Given the description of an element on the screen output the (x, y) to click on. 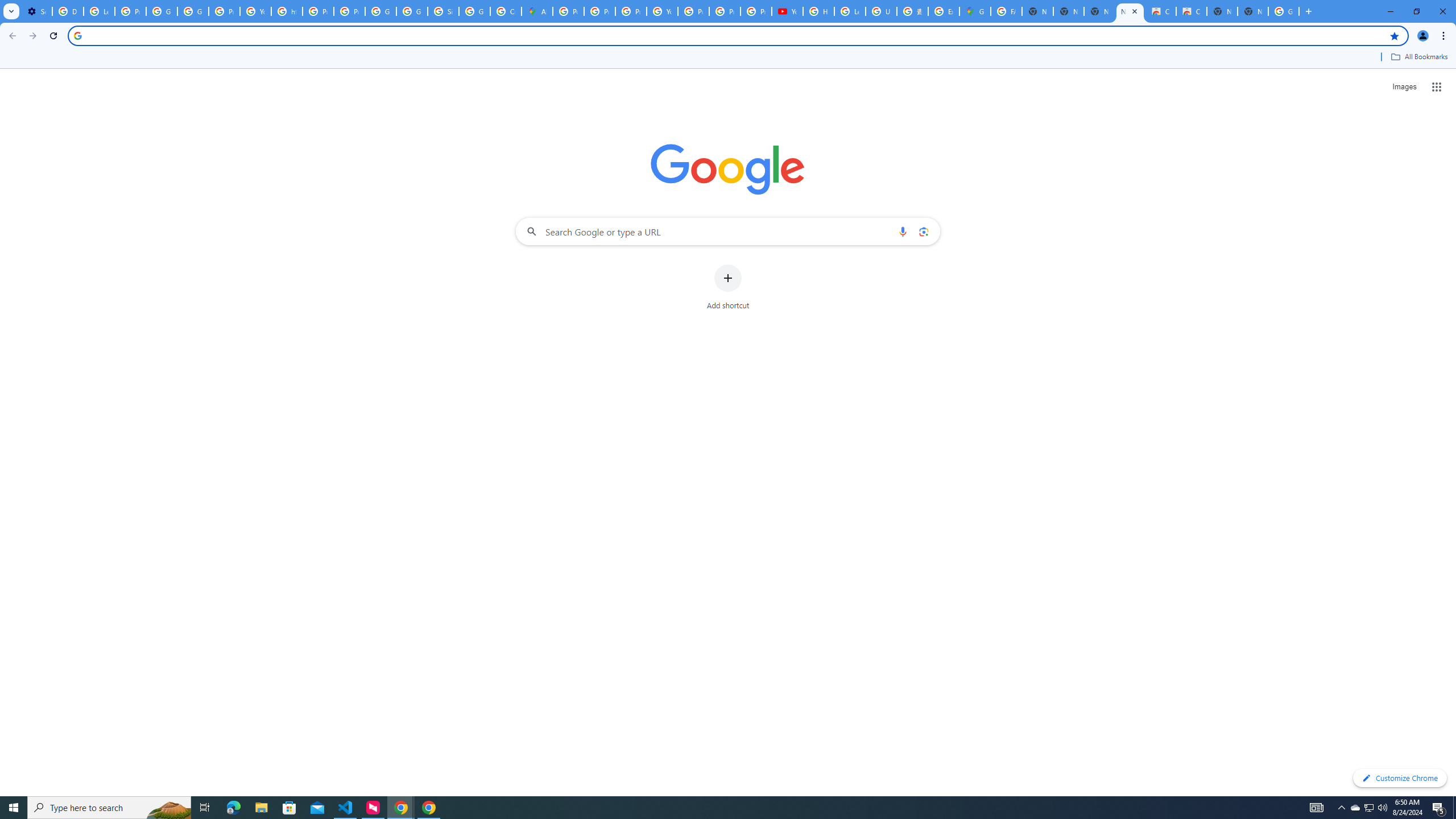
Classic Blue - Chrome Web Store (1190, 11)
